Given the description of an element on the screen output the (x, y) to click on. 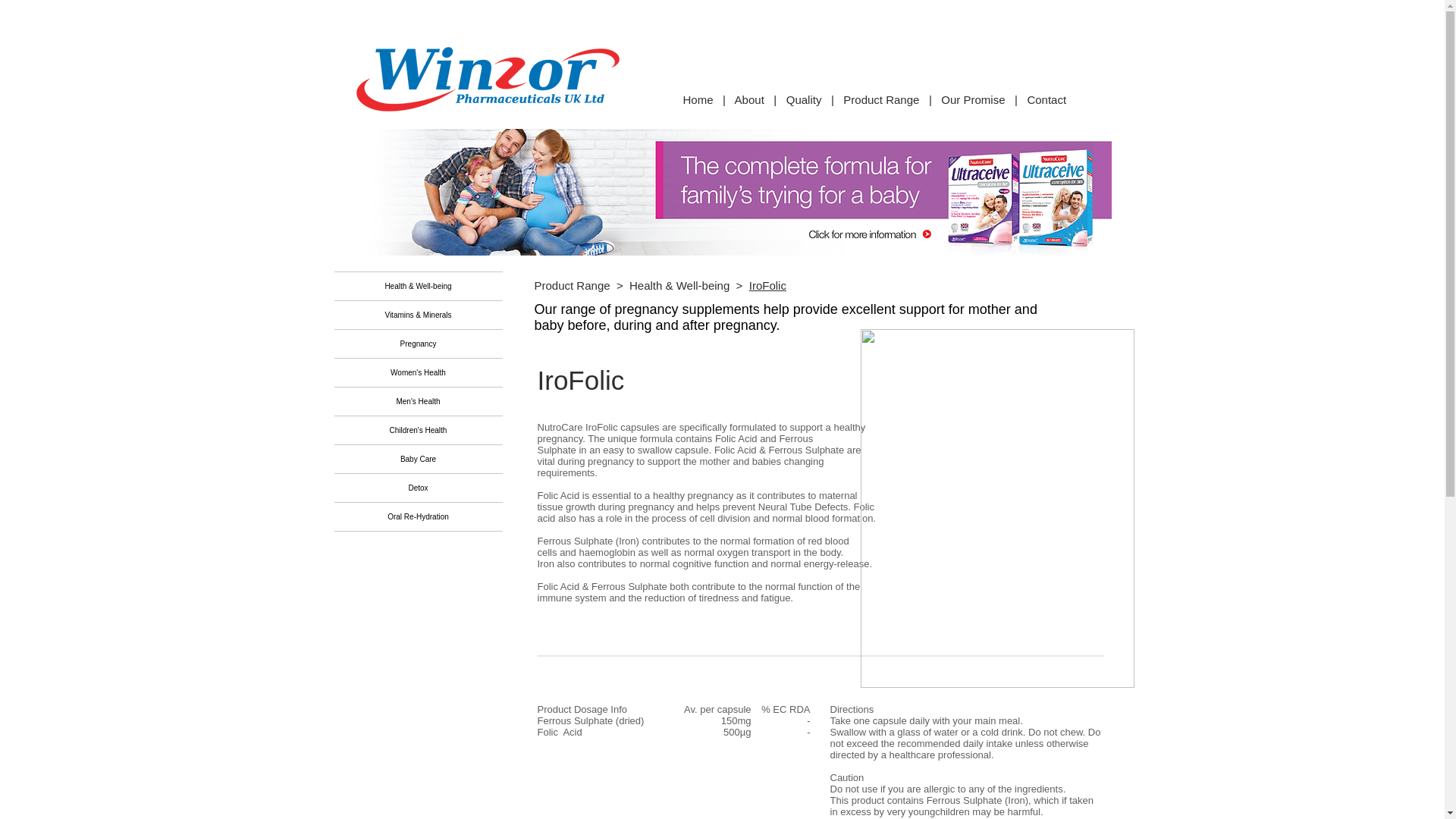
Our Promise (972, 99)
Product Range (880, 99)
Quality (804, 99)
Contact (1045, 99)
About (749, 99)
Home    (702, 99)
